Given the description of an element on the screen output the (x, y) to click on. 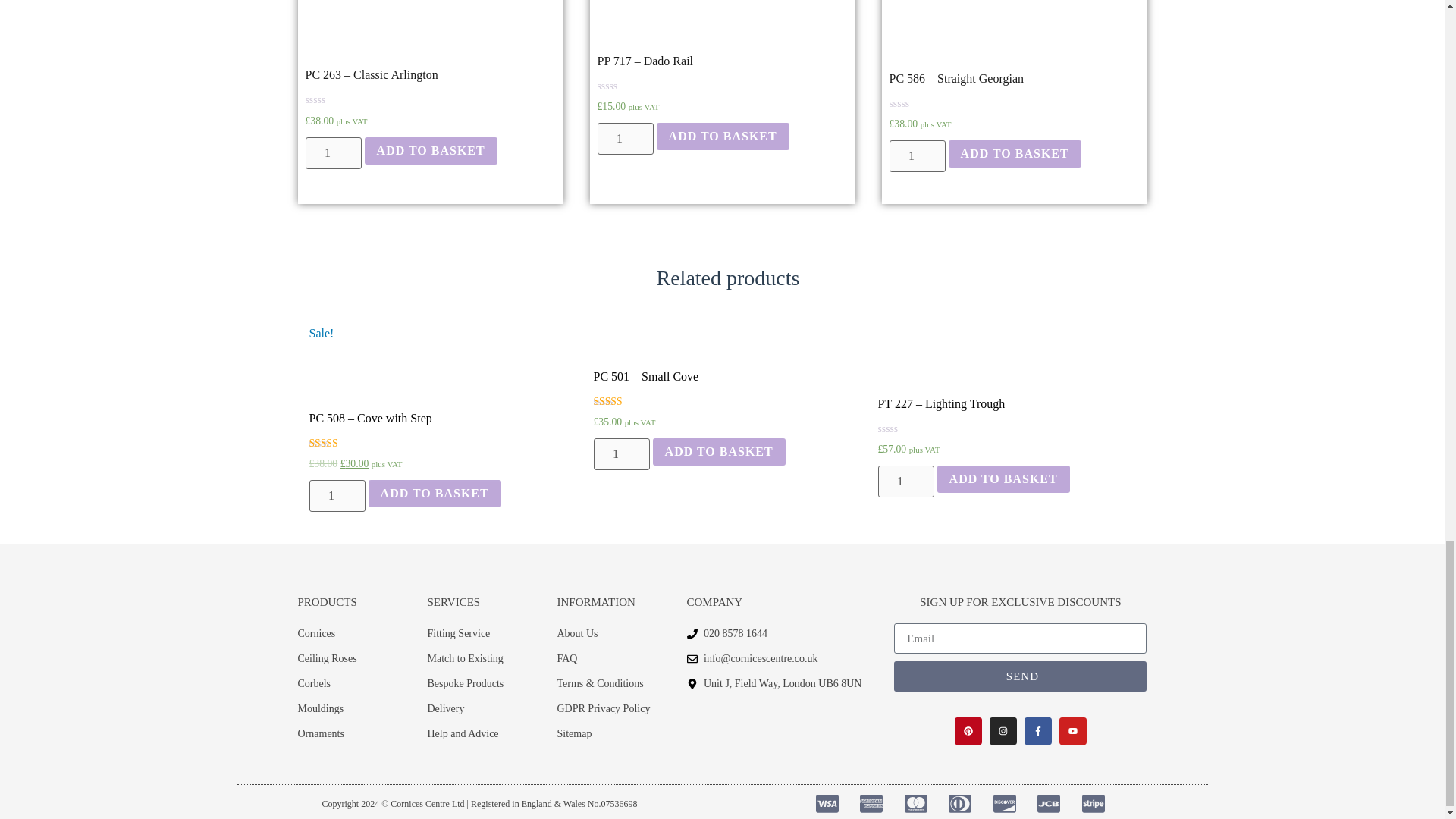
1 (624, 138)
1 (905, 481)
1 (336, 495)
1 (332, 152)
1 (916, 155)
1 (620, 454)
